Given the description of an element on the screen output the (x, y) to click on. 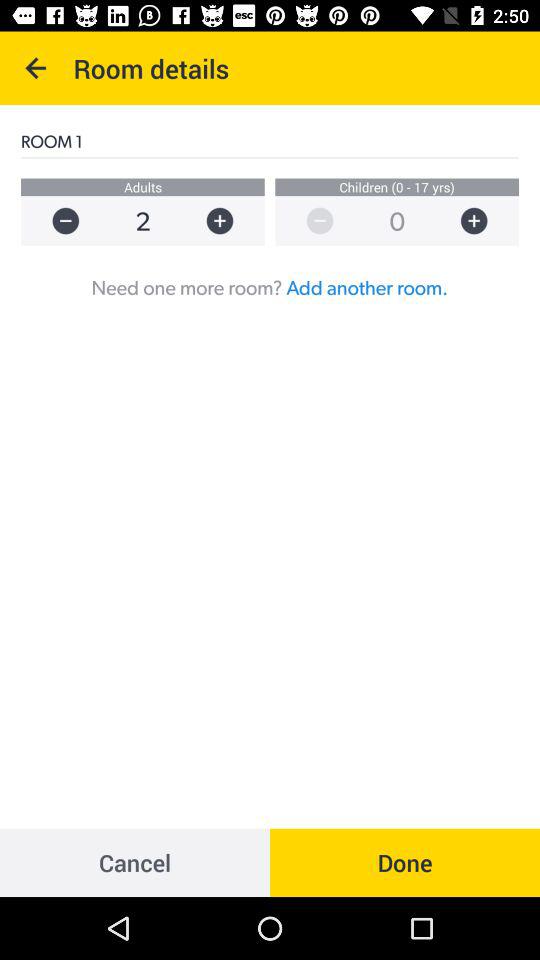
decrease number of children (310, 220)
